Given the description of an element on the screen output the (x, y) to click on. 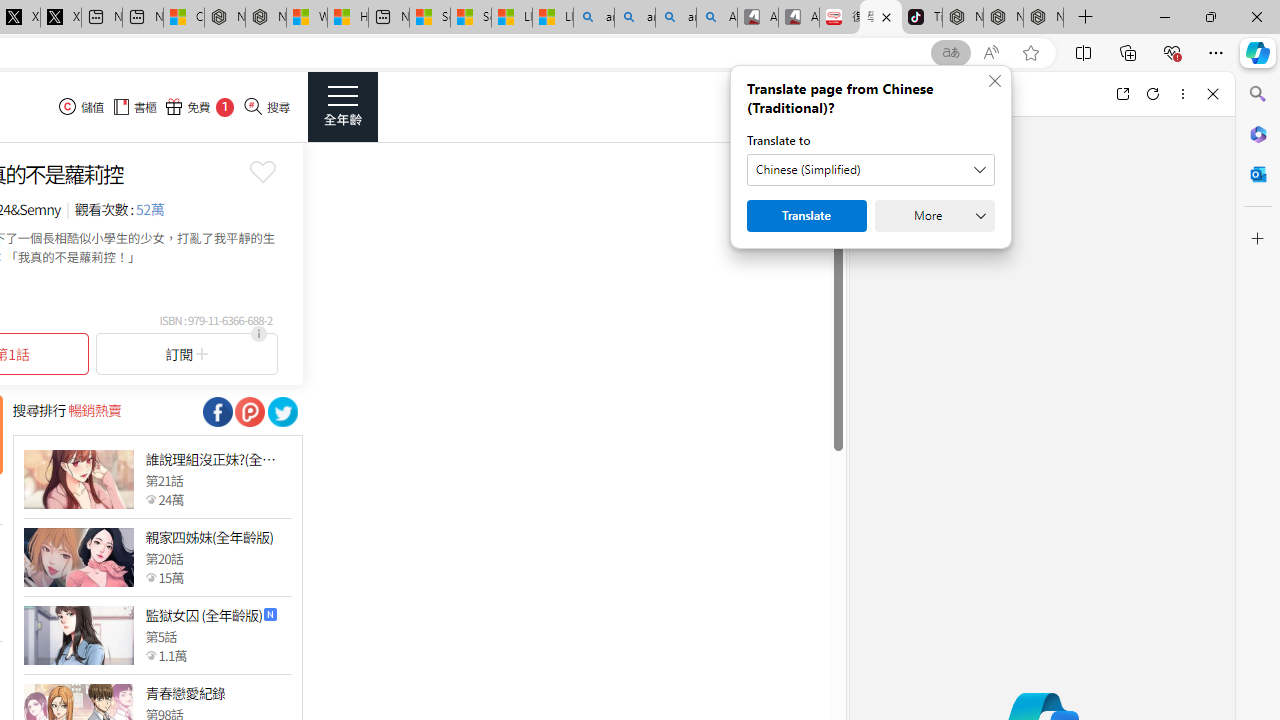
Open link in new tab (1122, 93)
Nordace Siena Pro 15 Backpack (1003, 17)
Chat (884, 93)
